Given the description of an element on the screen output the (x, y) to click on. 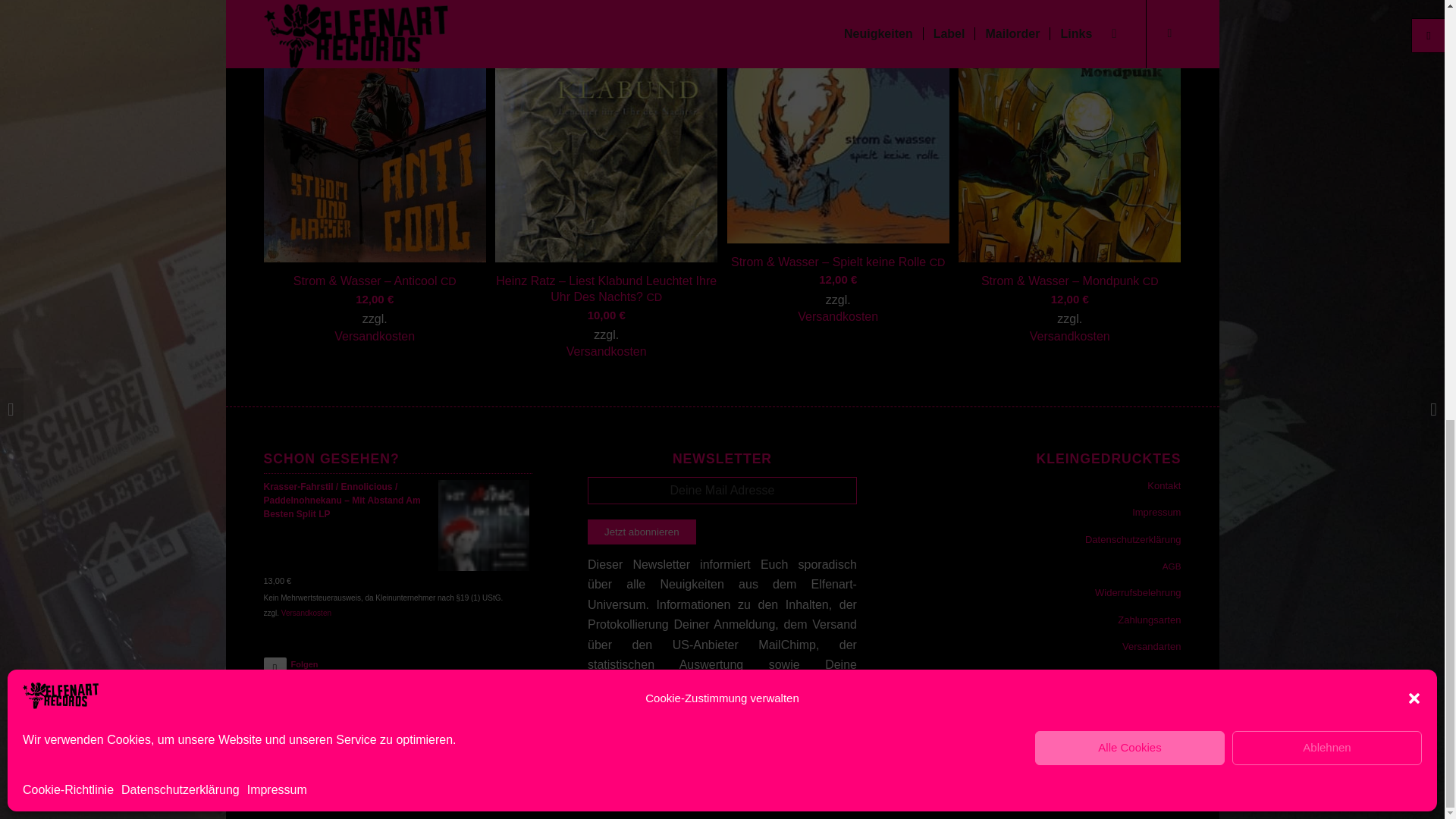
Jetzt abonnieren (641, 531)
Versandkosten (606, 351)
Versandkosten (374, 336)
Versandkosten (837, 316)
